Given the description of an element on the screen output the (x, y) to click on. 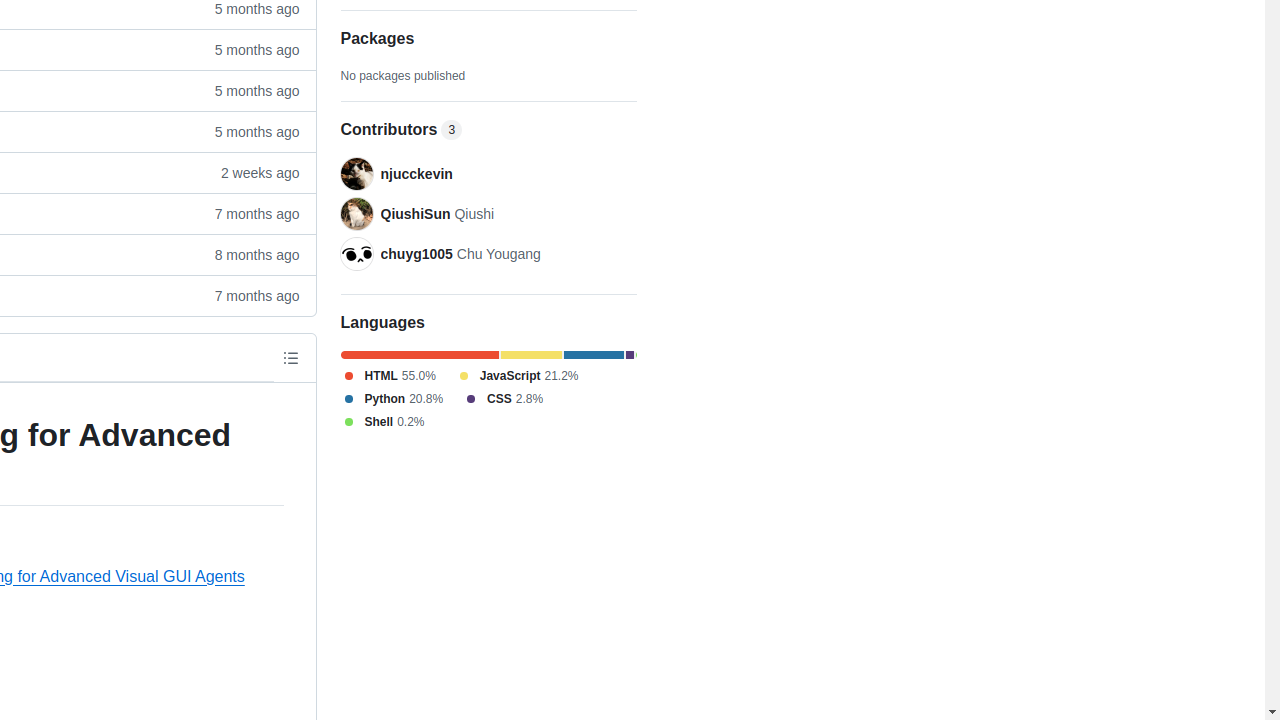
Outline Element type: push-button (290, 358)
@chuyg1005 Element type: link (356, 254)
Python 20.8% Element type: link (392, 399)
5 months ago Element type: table-cell (247, 131)
JavaScript 21.2% Element type: link (517, 376)
